Given the description of an element on the screen output the (x, y) to click on. 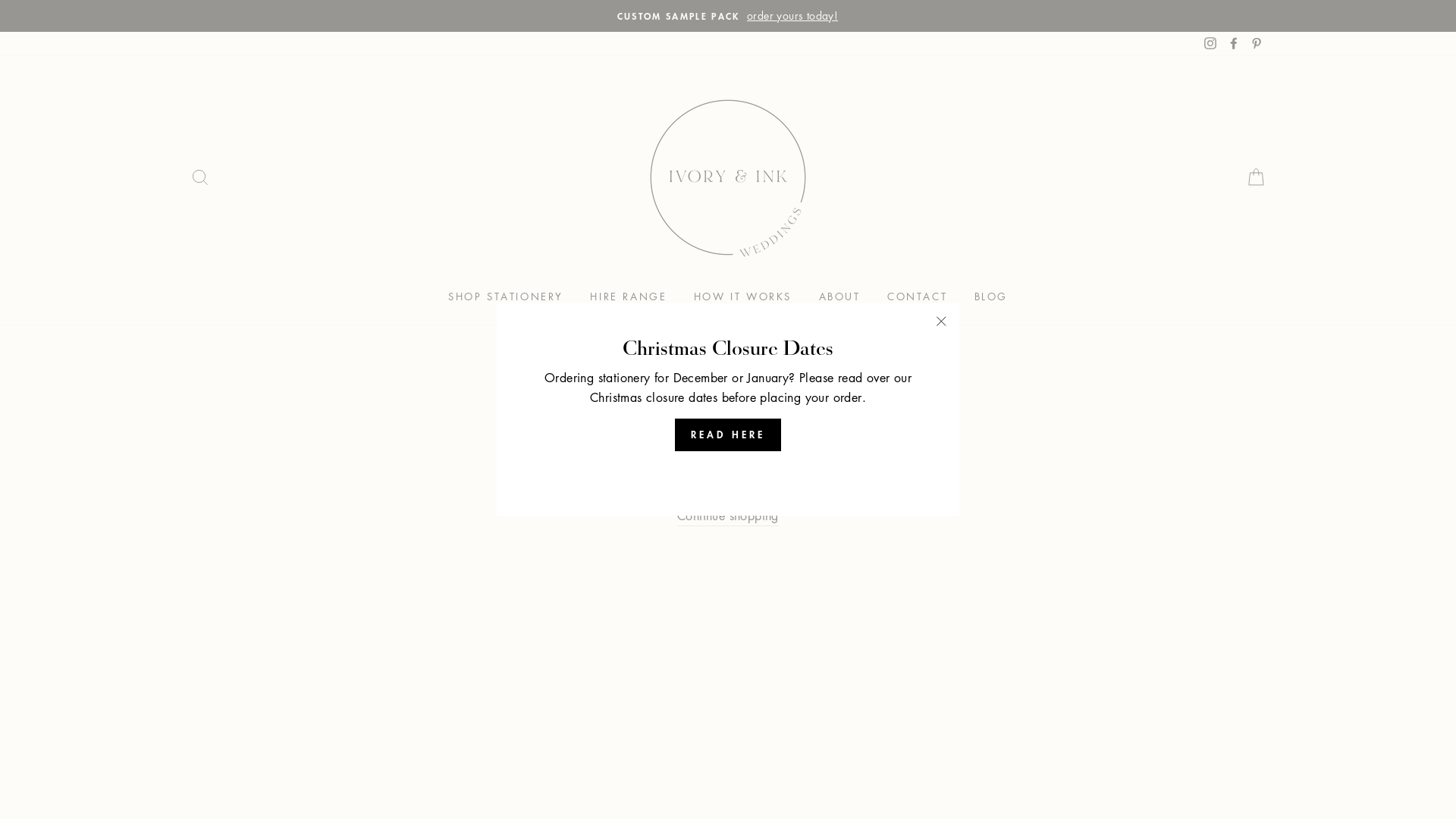
HOW IT WORKS Element type: text (742, 296)
Instagram Element type: text (1210, 43)
READ HERE Element type: text (727, 434)
CONTACT Element type: text (916, 296)
CHRISTMAS CLOSURE DATES click here Element type: text (727, 15)
Facebook Element type: text (1233, 43)
BLOG Element type: text (991, 296)
Pinterest Element type: text (1256, 43)
Skip to content Element type: text (0, 0)
SHOP STATIONERY Element type: text (505, 296)
HIRE RANGE Element type: text (627, 296)
SEARCH Element type: text (199, 176)
CART Element type: text (1255, 176)
"Close (esc)" Element type: text (940, 321)
Continue shopping Element type: text (727, 516)
ABOUT Element type: text (838, 296)
